Given the description of an element on the screen output the (x, y) to click on. 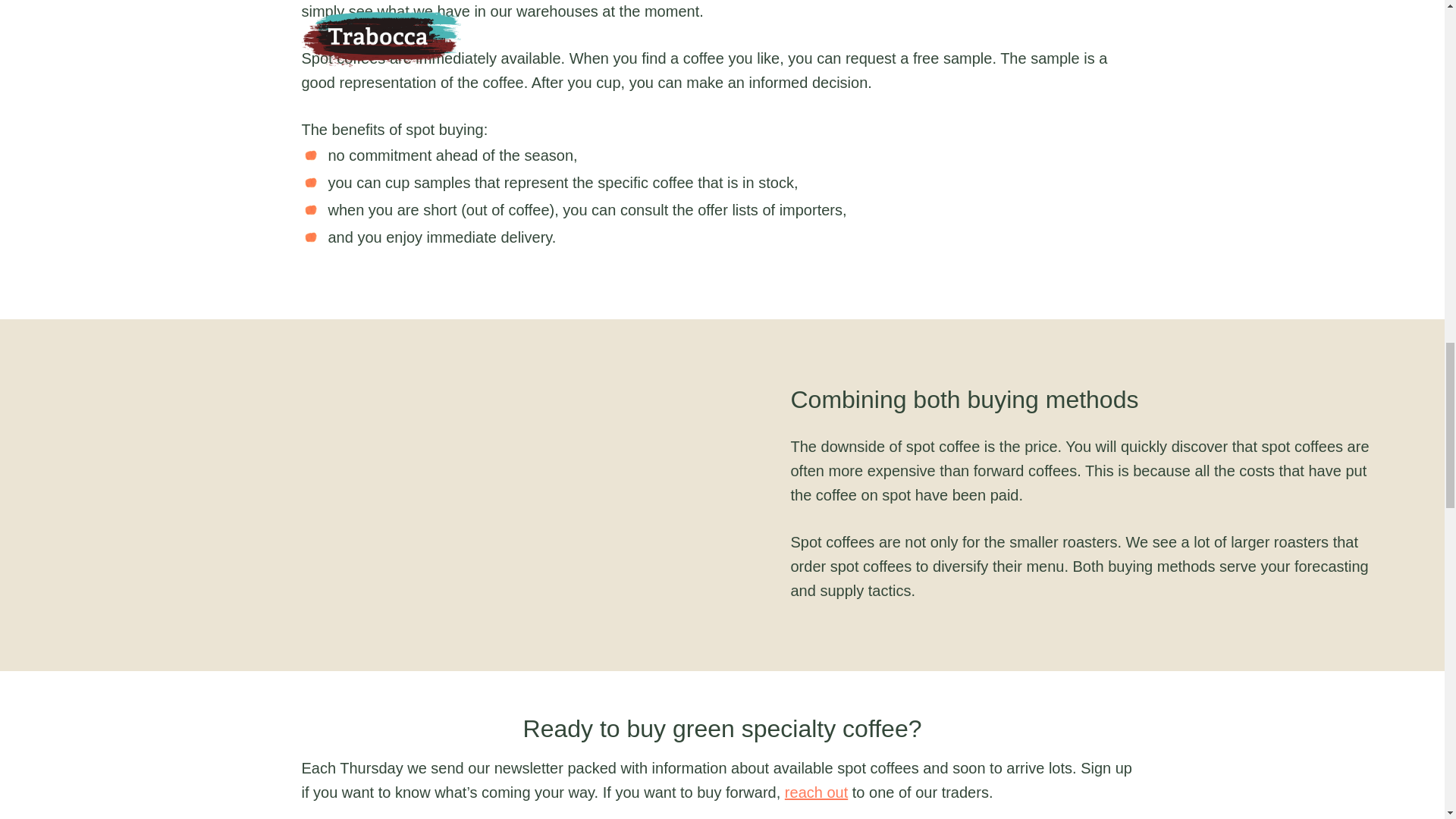
reach out (815, 791)
